Given the description of an element on the screen output the (x, y) to click on. 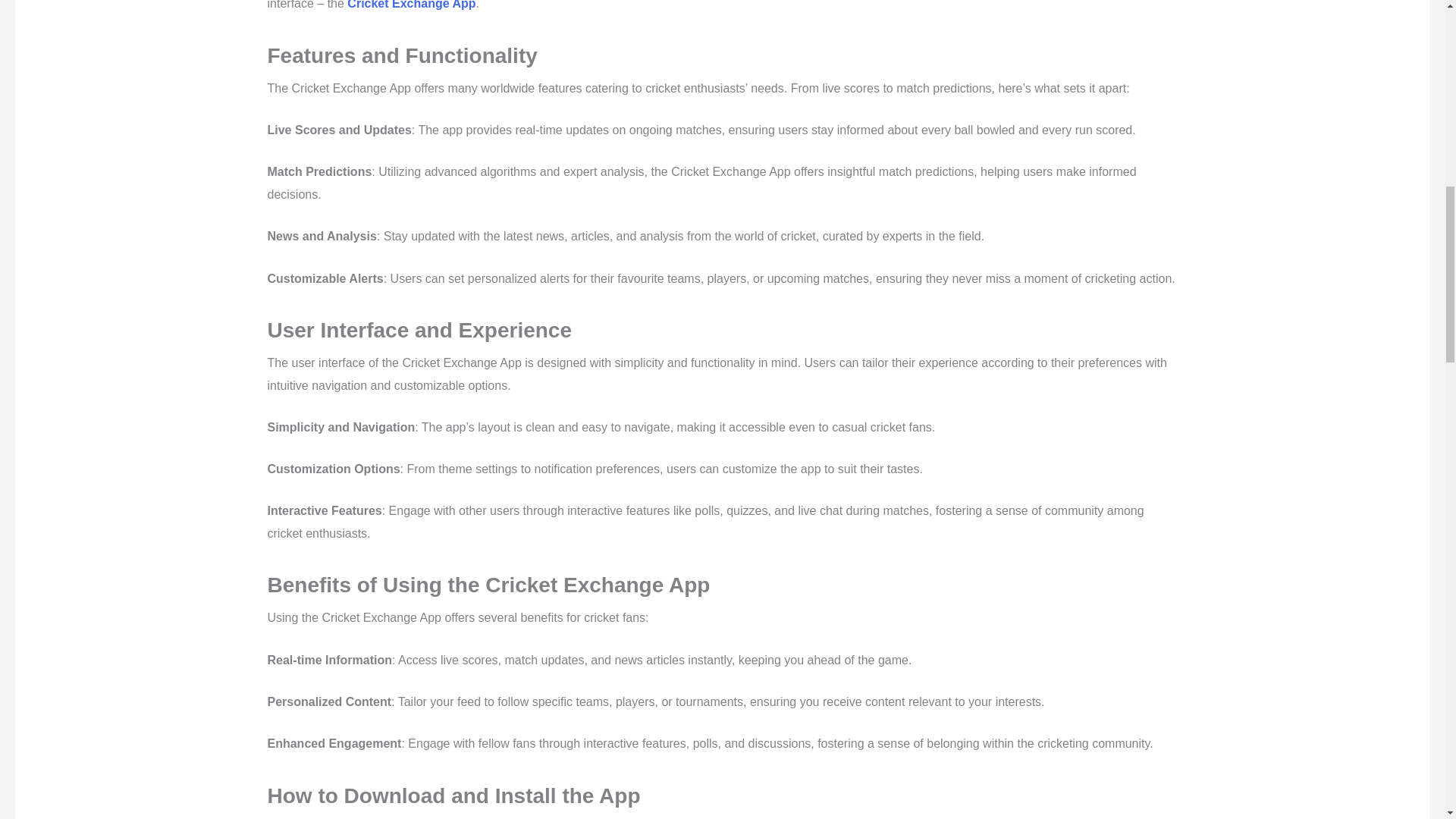
Cricket Exchange App (411, 4)
